Given the description of an element on the screen output the (x, y) to click on. 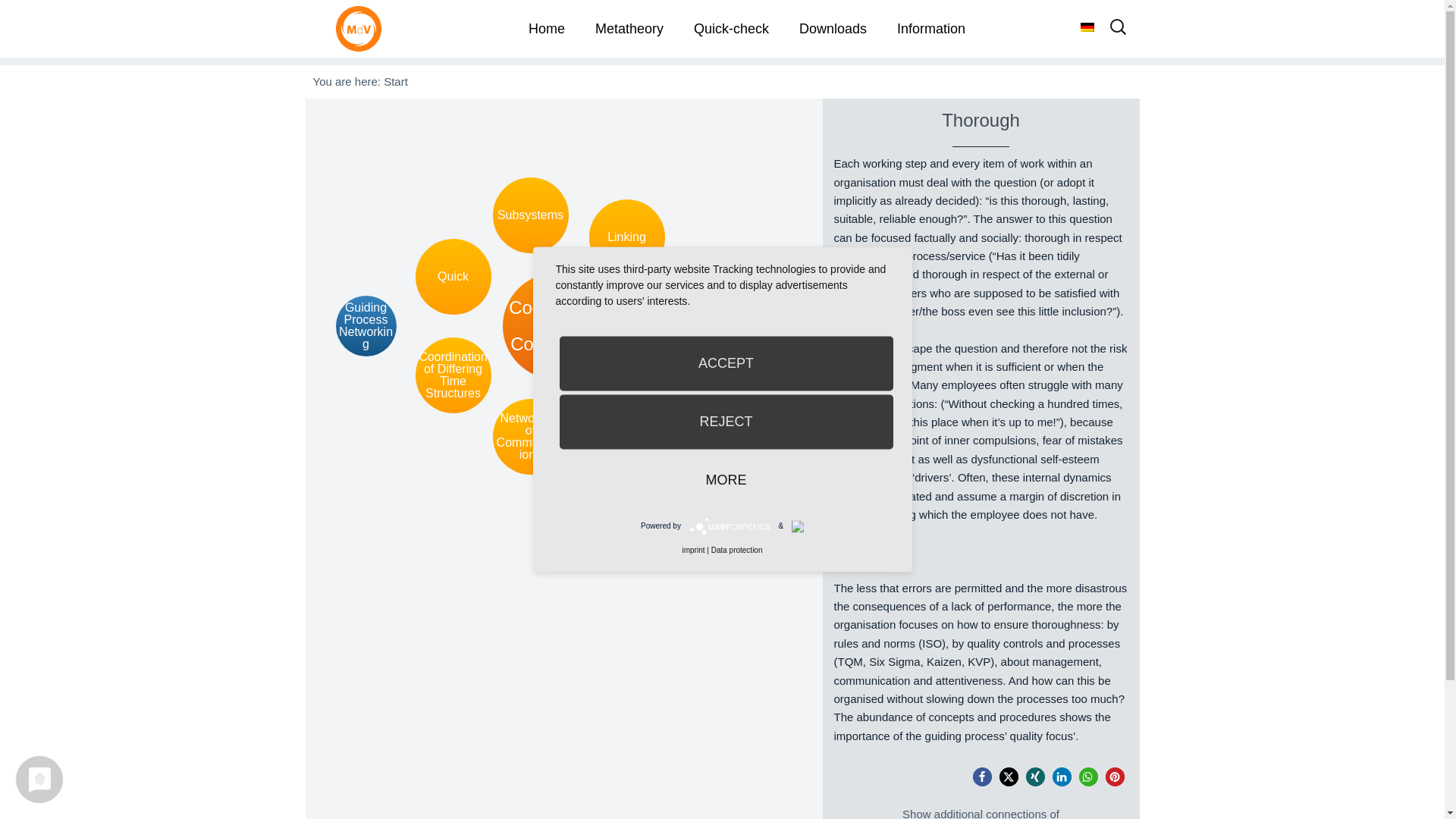
Coordination of Complexity (555, 325)
Share on XING (1034, 776)
Share on Facebook (981, 776)
imprint (692, 550)
Quick (453, 276)
Data protection (736, 550)
Coordination of Differing Time Structures (453, 375)
Search for: (1118, 31)
Downloads (833, 28)
Search (42, 18)
